Given the description of an element on the screen output the (x, y) to click on. 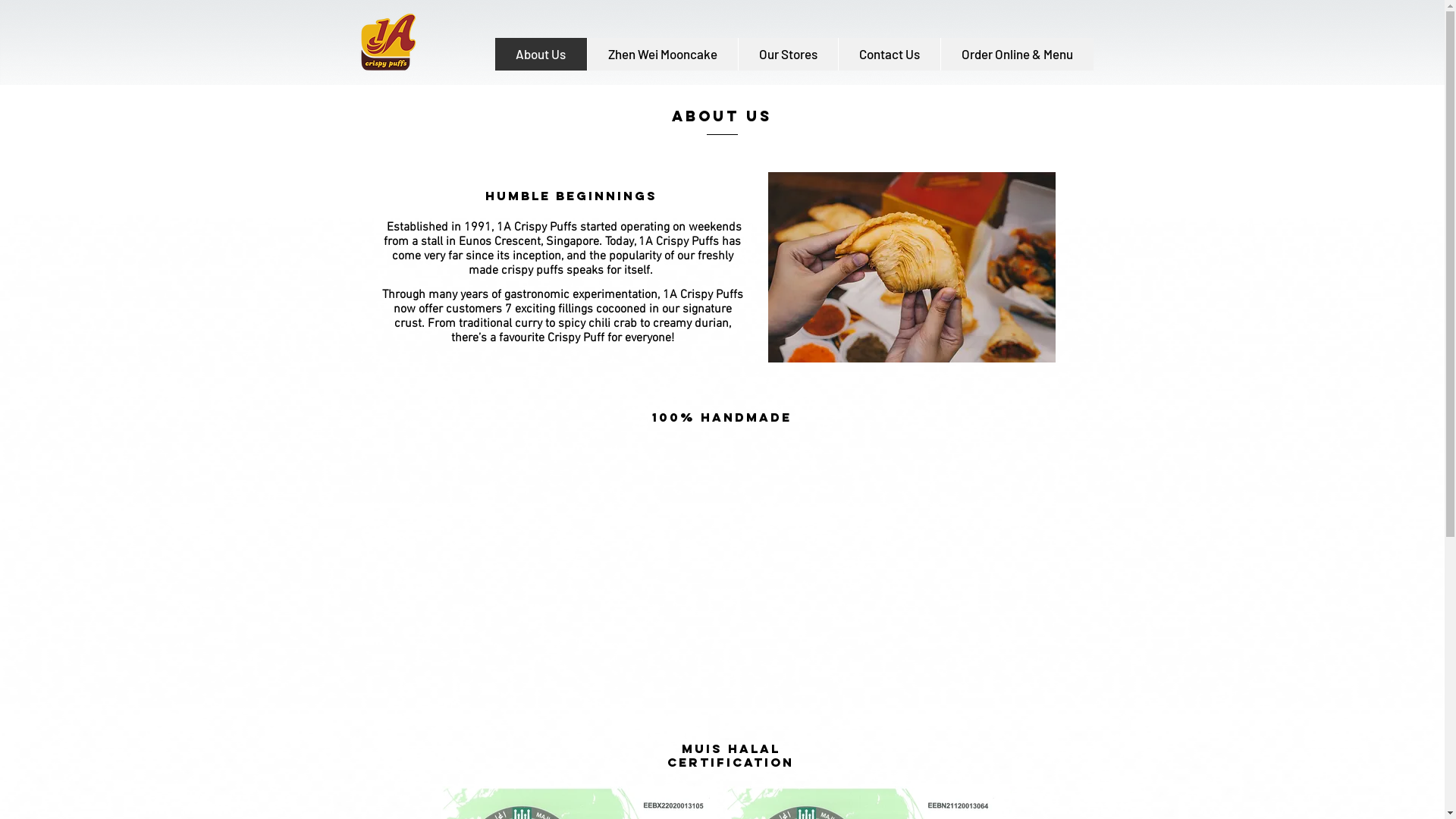
Our Stores Element type: text (787, 53)
Order Online & Menu Element type: text (1016, 53)
Contact Us Element type: text (888, 53)
About Us Element type: text (540, 53)
Zhen Wei Mooncake Element type: text (661, 53)
